Given the description of an element on the screen output the (x, y) to click on. 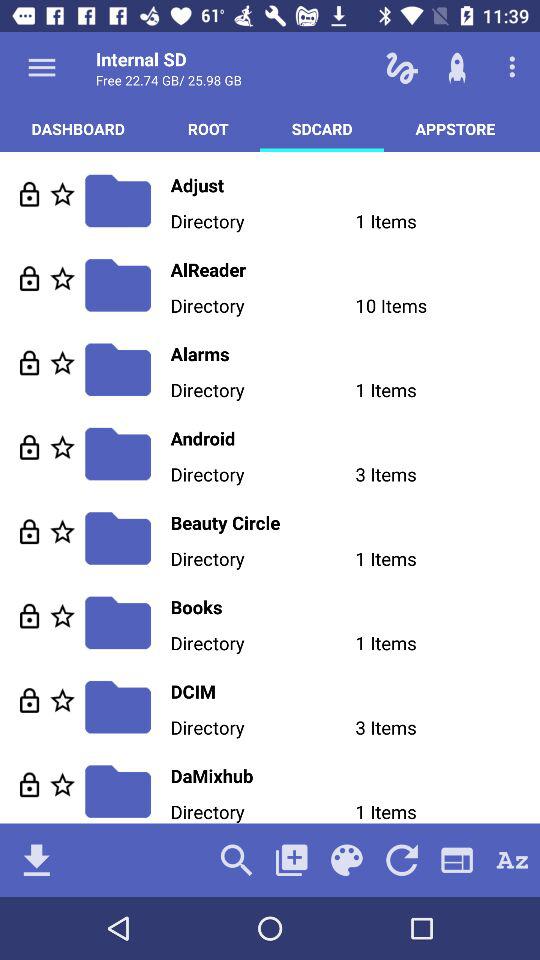
bookmark elements so they are easier to find when needed (62, 193)
